Given the description of an element on the screen output the (x, y) to click on. 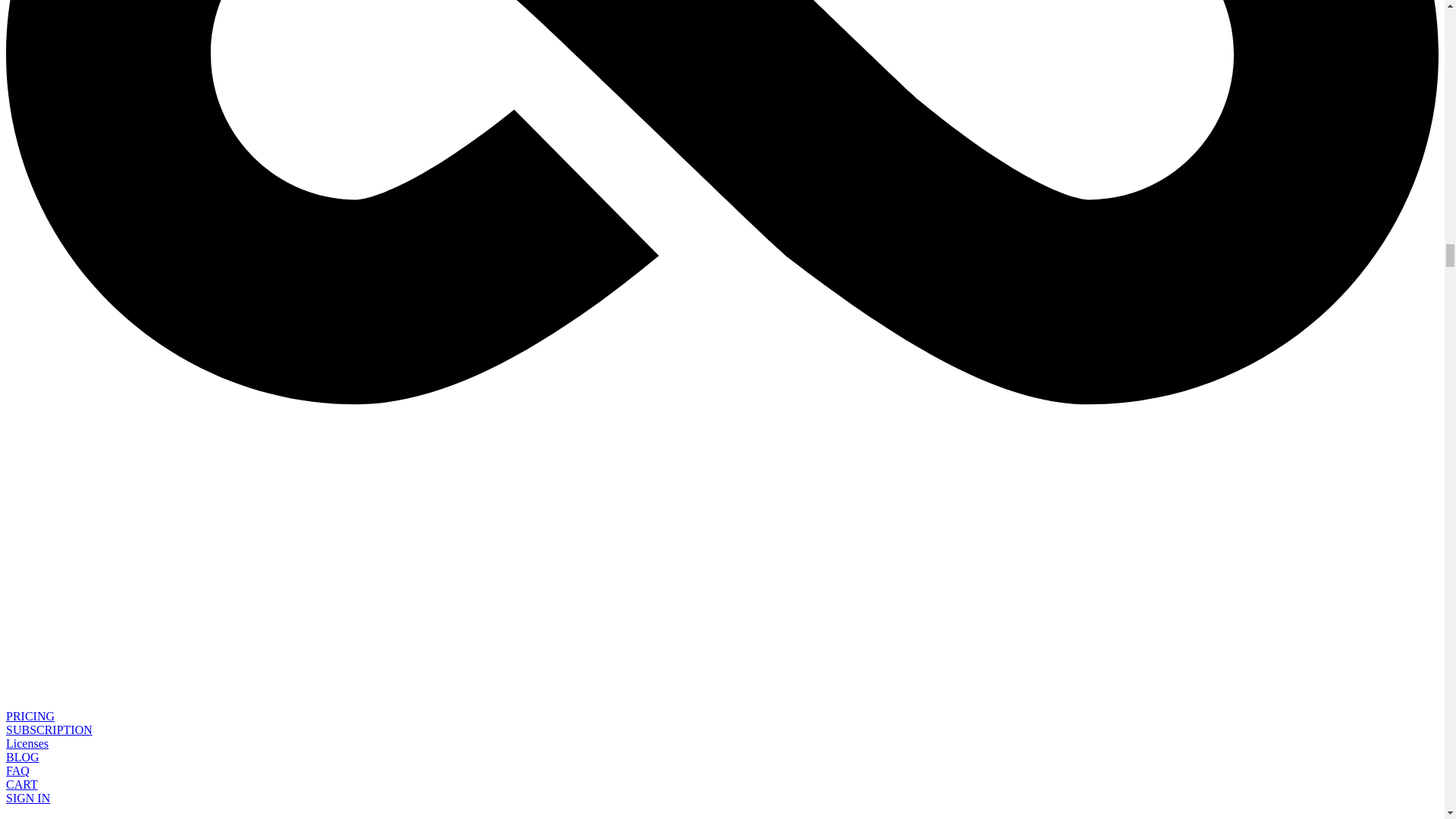
SUBSCRIPTION (49, 729)
BLOG (22, 757)
FAQ (17, 770)
Licenses (26, 743)
SIGN IN (27, 797)
CART (21, 784)
